Given the description of an element on the screen output the (x, y) to click on. 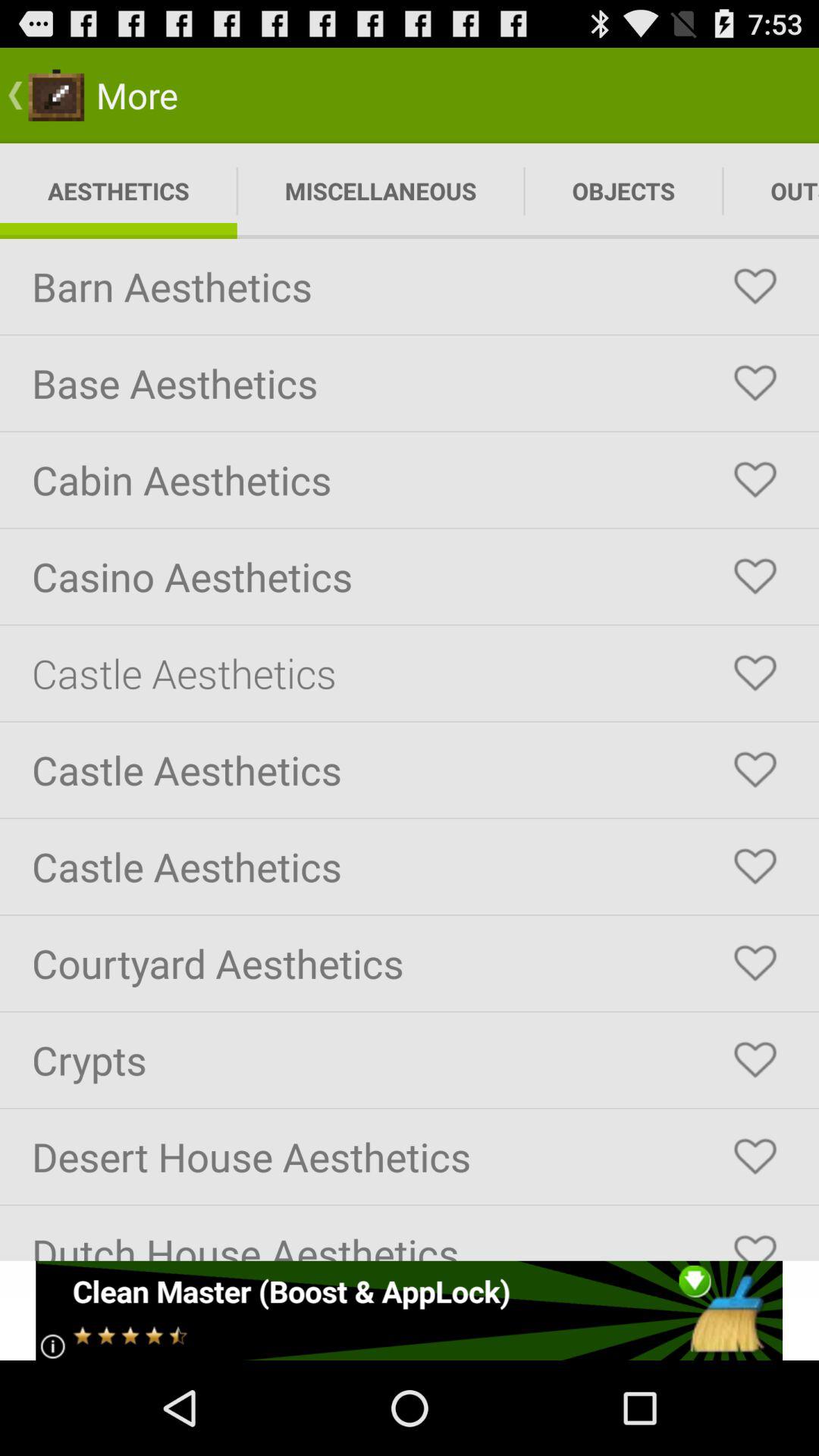
favorite crypts (755, 1060)
